Given the description of an element on the screen output the (x, y) to click on. 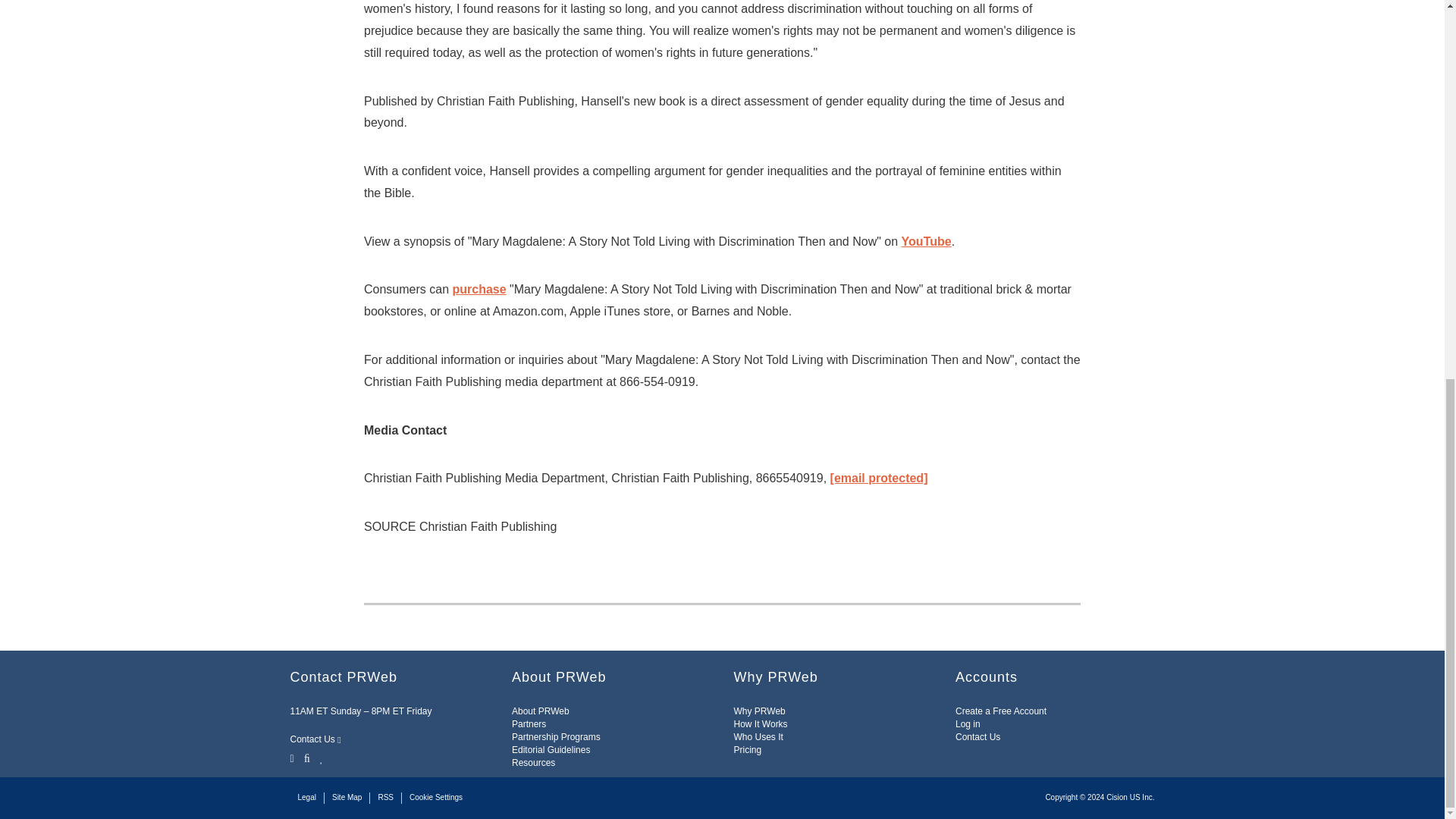
Why PRWeb (759, 710)
Partnership Programs (555, 737)
Editorial Guidelines (550, 749)
How It Works (760, 724)
About PRWeb (540, 710)
Resources (533, 762)
Who Uses It (758, 737)
Facebook (306, 757)
Partners (529, 724)
